Given the description of an element on the screen output the (x, y) to click on. 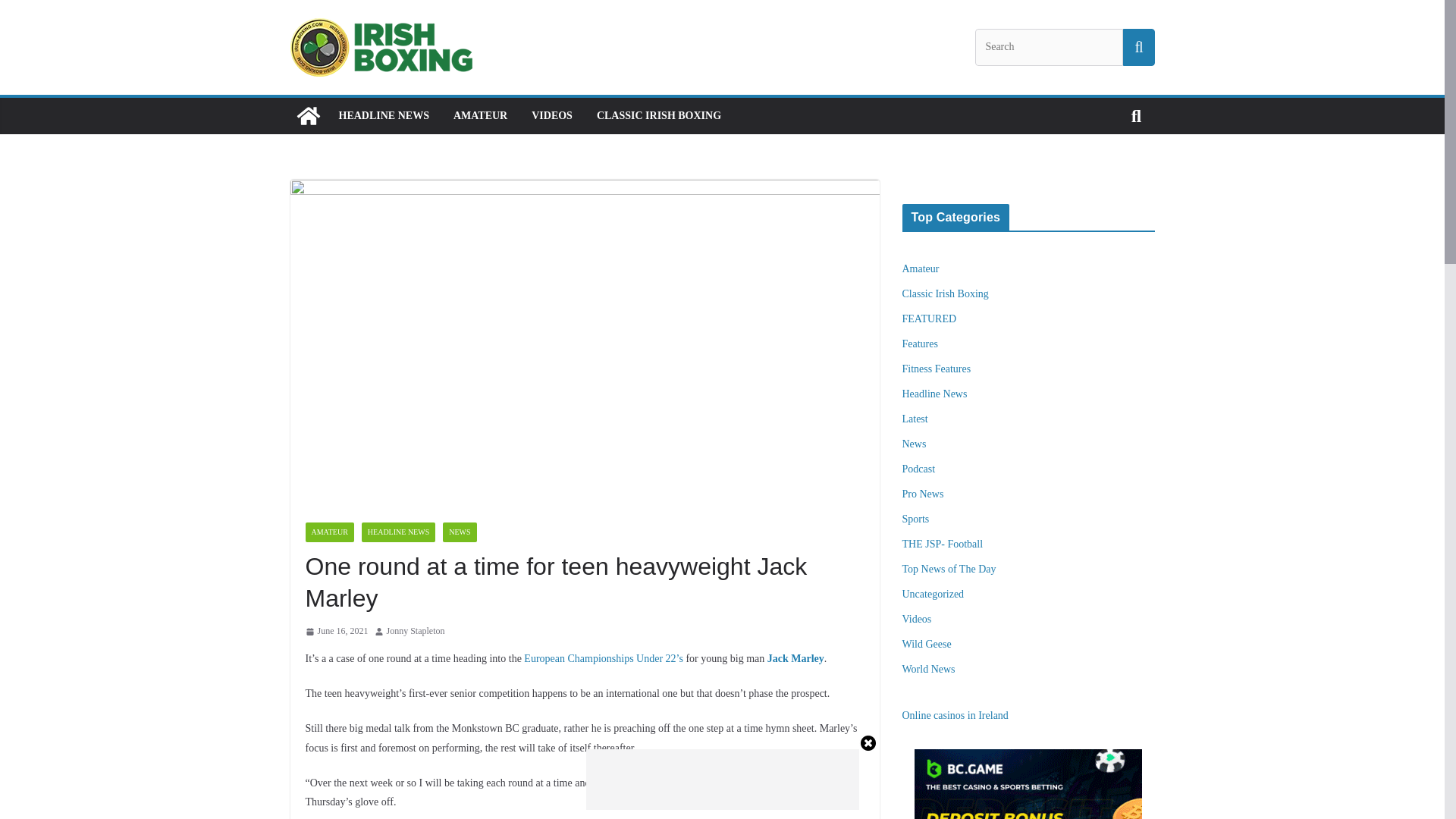
Features (919, 343)
Headline News (935, 393)
AMATEUR (479, 115)
Latest (915, 419)
Jonny Stapleton (416, 631)
Podcast (919, 469)
FEATURED (929, 318)
5:39 pm (336, 631)
Irish Boxing (307, 115)
Jonny Stapleton (416, 631)
